Given the description of an element on the screen output the (x, y) to click on. 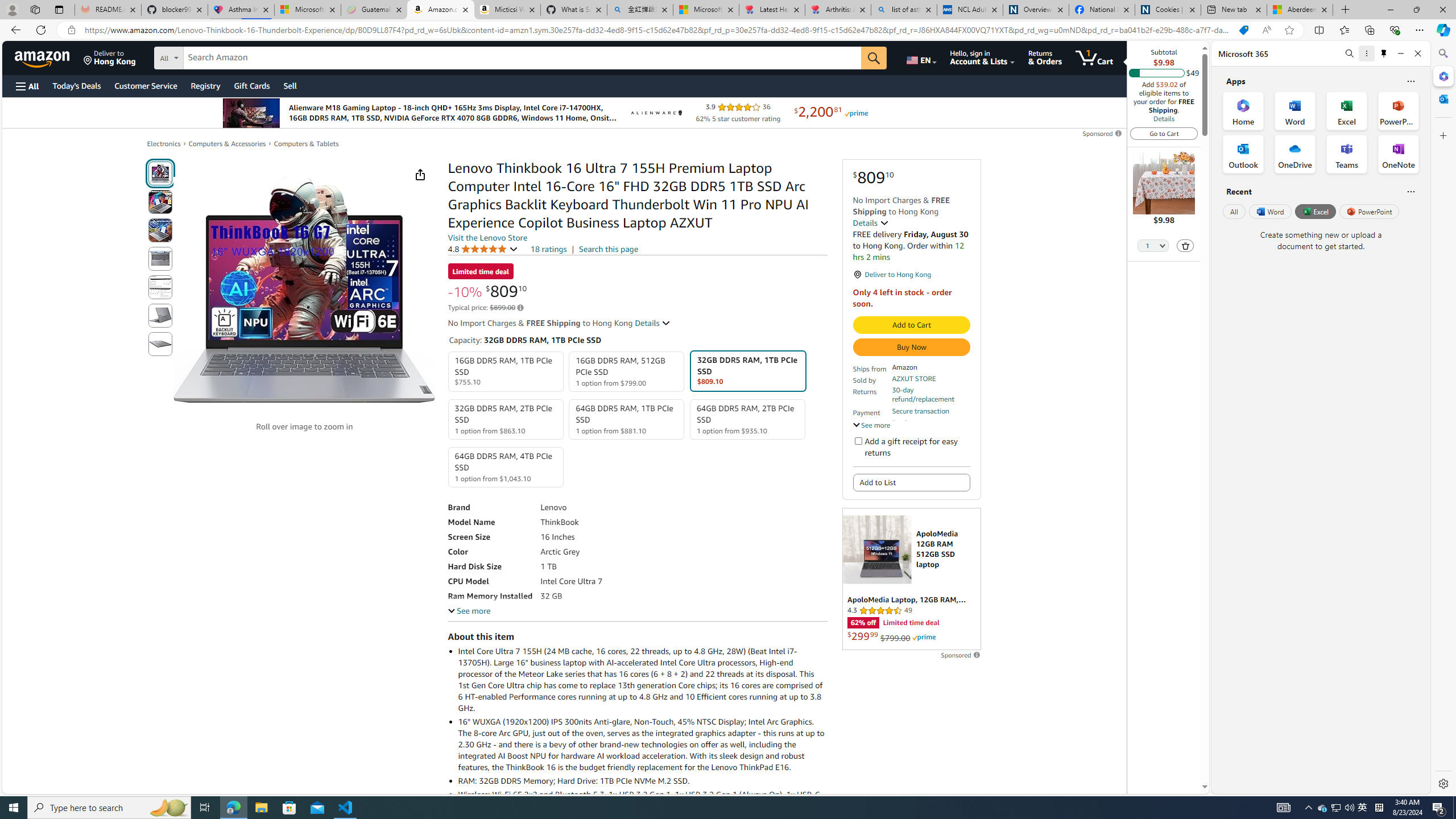
Search Amazon (522, 57)
You have the best price! (1243, 29)
Word Office App (1295, 110)
Share (419, 174)
Computers & Accessories (226, 144)
